Given the description of an element on the screen output the (x, y) to click on. 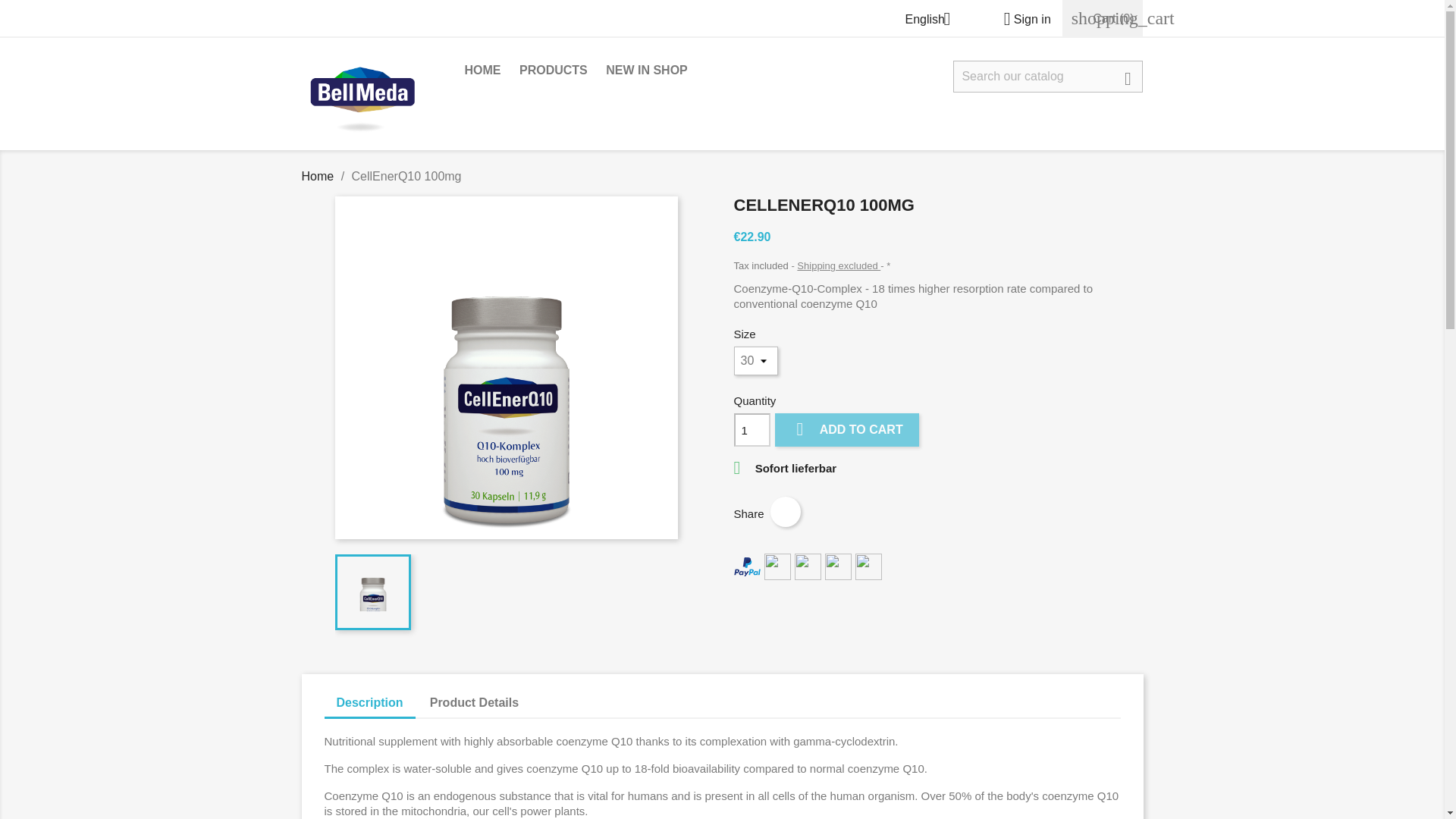
HOME (482, 71)
PRODUCTS (553, 71)
Share (785, 511)
Log in to your customer account (1020, 19)
1 (751, 429)
